Given the description of an element on the screen output the (x, y) to click on. 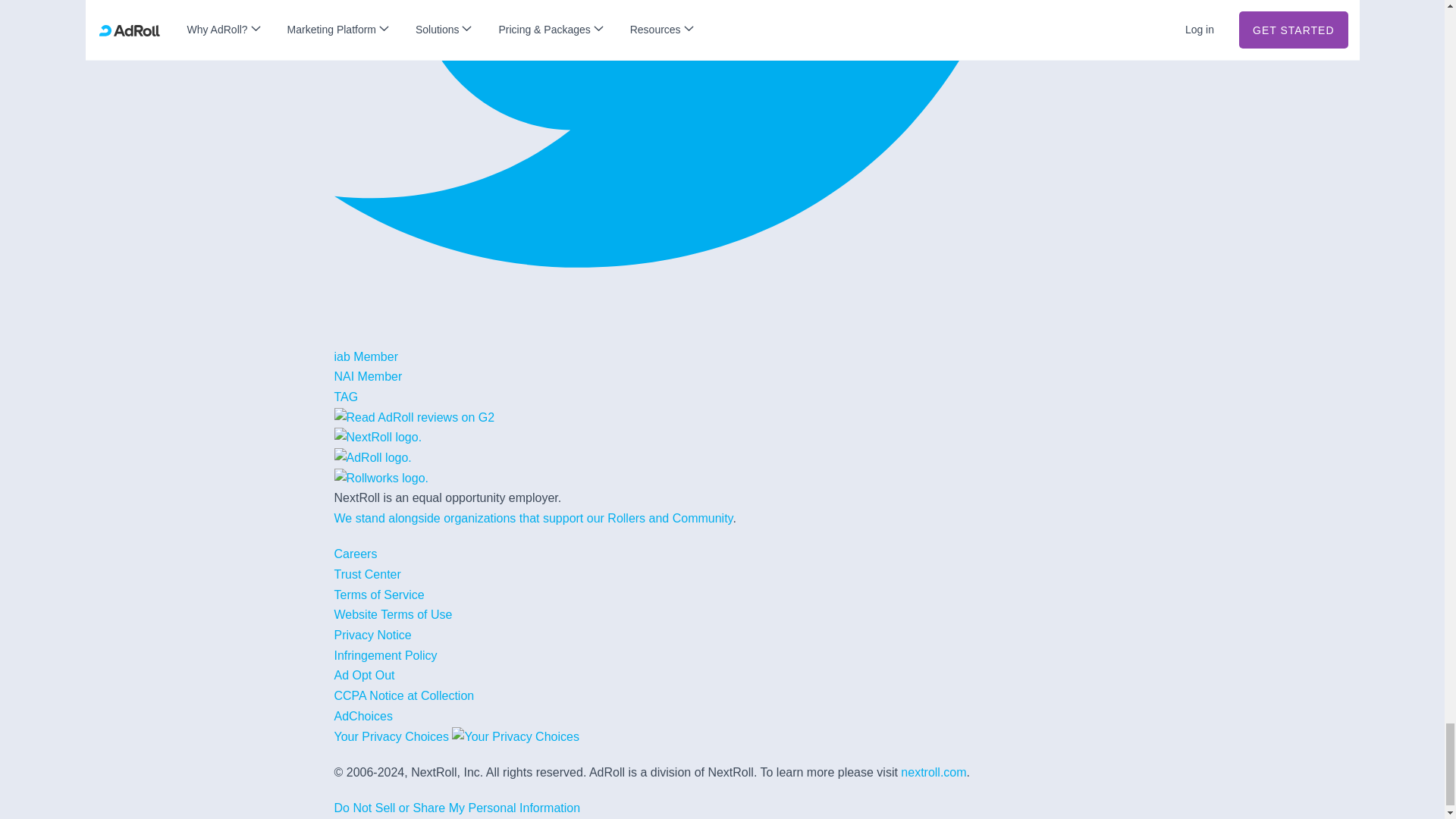
Read reviews of AdRoll on G2 (414, 417)
